Given the description of an element on the screen output the (x, y) to click on. 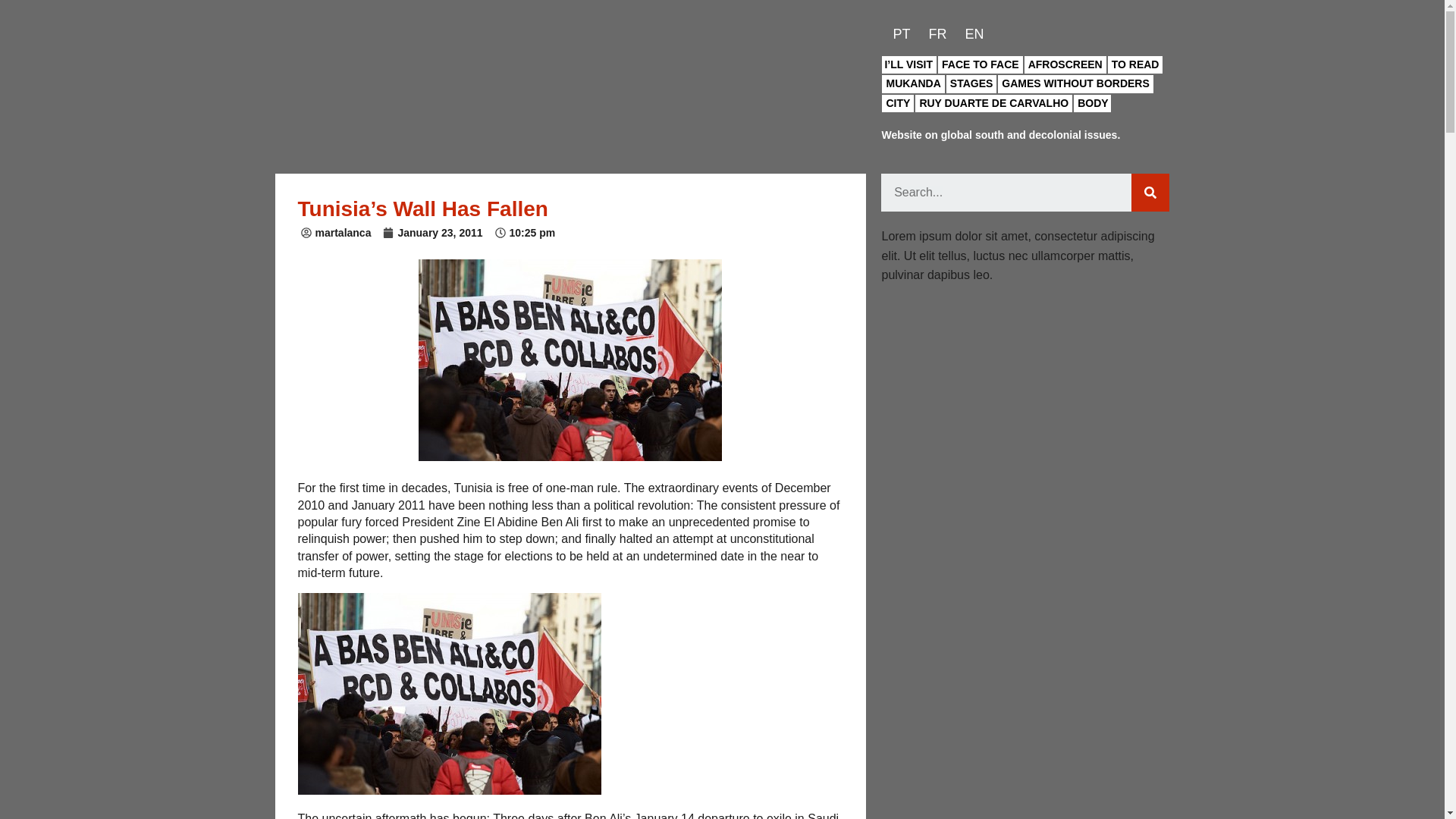
STAGES (971, 84)
CITY (897, 104)
January 23, 2011 (431, 233)
FACE TO FACE (980, 65)
RUY DUARTE DE CARVALHO (993, 104)
Search (1150, 192)
PT (897, 33)
Search (1005, 192)
BODY (1092, 104)
EN (970, 33)
FR (933, 33)
AFROSCREEN (1065, 65)
TO READ (1135, 65)
martalanca (335, 233)
GAMES WITHOUT BORDERS (1074, 84)
